Given the description of an element on the screen output the (x, y) to click on. 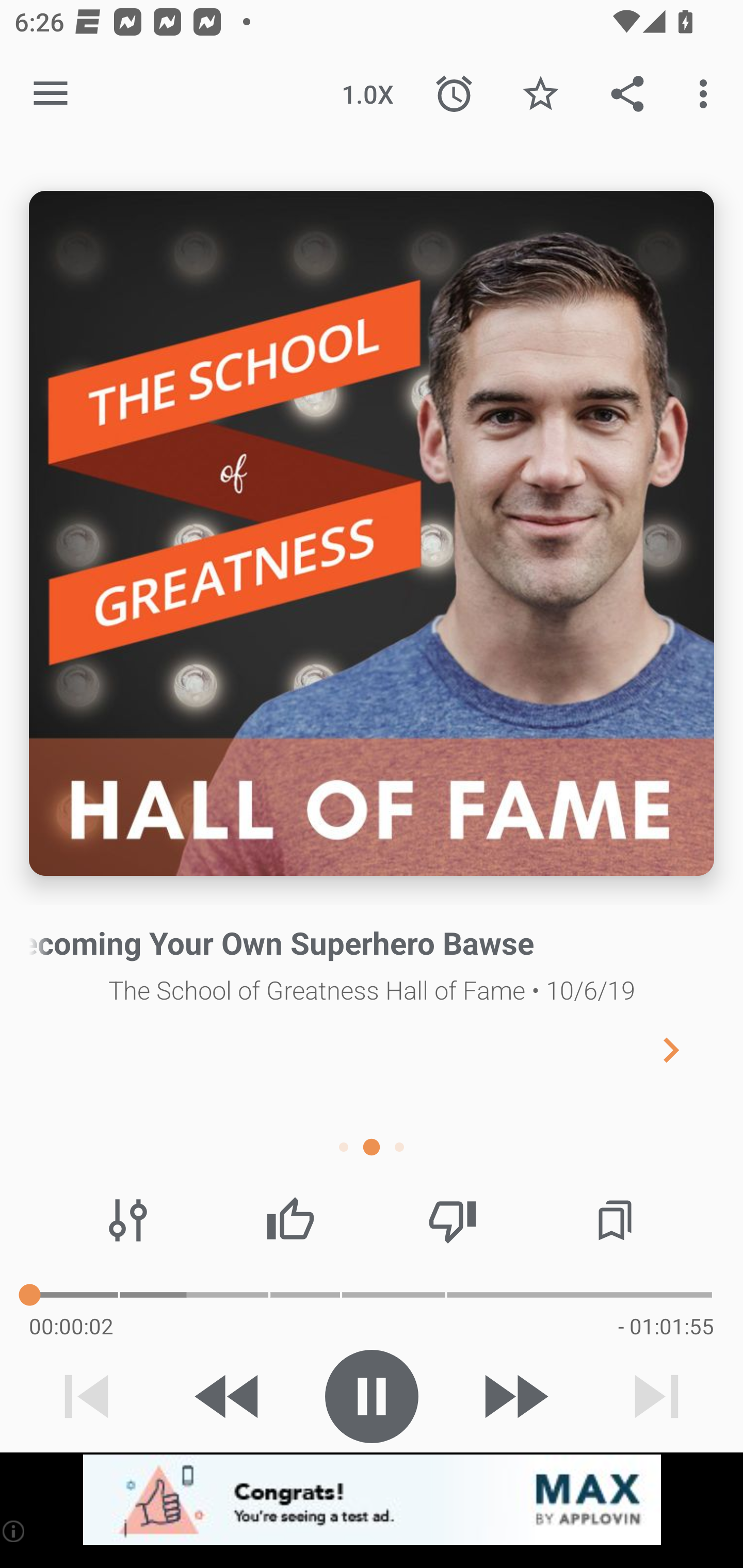
Open navigation sidebar (50, 93)
1.0X (366, 93)
Sleep Timer (453, 93)
Favorite (540, 93)
Share (626, 93)
More options (706, 93)
Episode description (371, 533)
Next Chapter (686, 1049)
Audio effects (127, 1220)
Thumbs up (290, 1220)
Thumbs down (452, 1220)
Chapters / Bookmarks (614, 1220)
- 01:01:55 (666, 1325)
Previous track (86, 1395)
Skip 15s backward (228, 1395)
Play / Pause (371, 1395)
Skip 30s forward (513, 1395)
Next track (656, 1395)
app-monetization (371, 1500)
(i) (14, 1531)
